Given the description of an element on the screen output the (x, y) to click on. 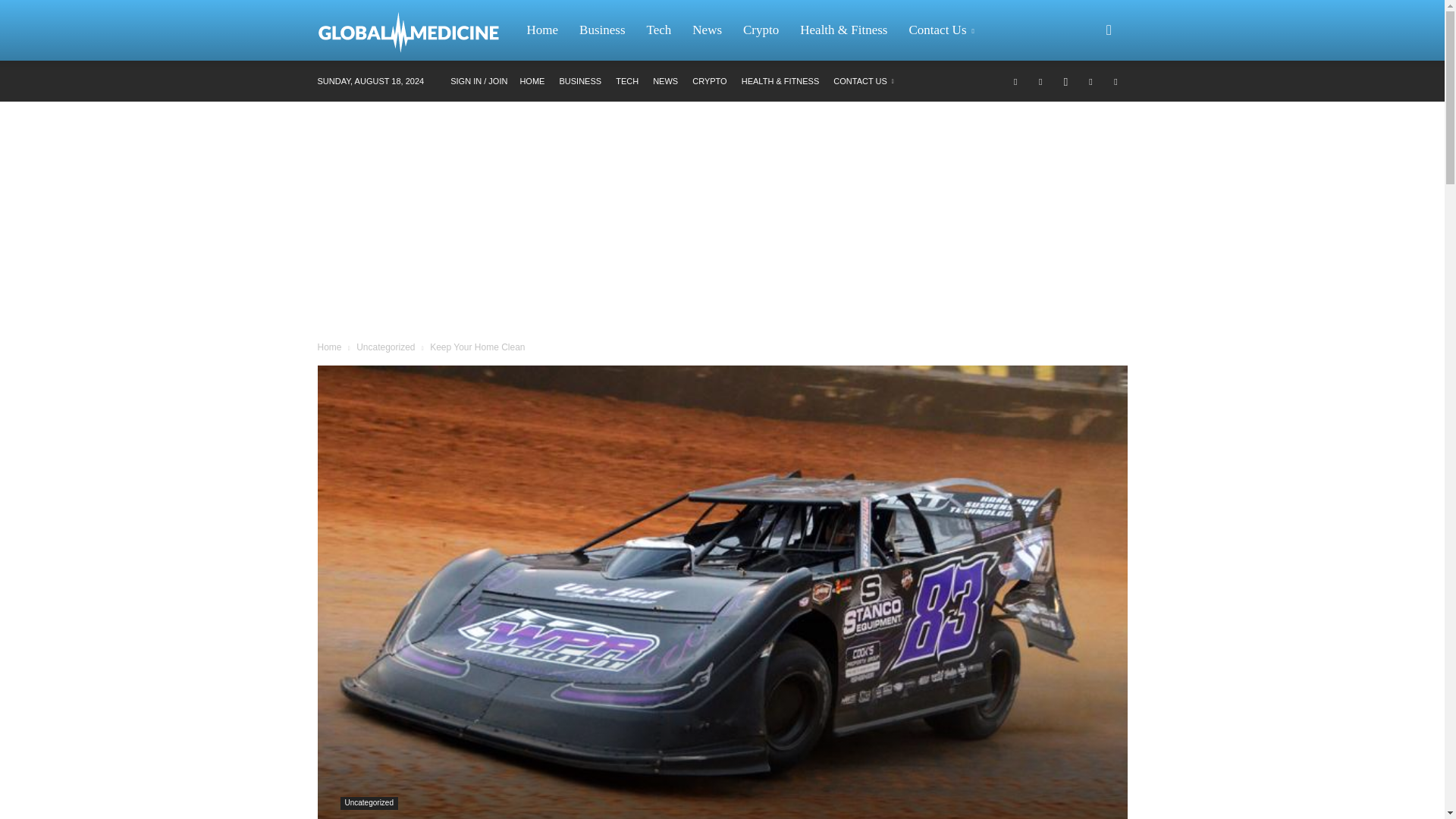
Business (601, 30)
Contact Us (944, 30)
DailyTimeZone (416, 30)
TECH (627, 80)
BUSINESS (580, 80)
Search (1085, 102)
HOME (531, 80)
Crypto (760, 30)
